Given the description of an element on the screen output the (x, y) to click on. 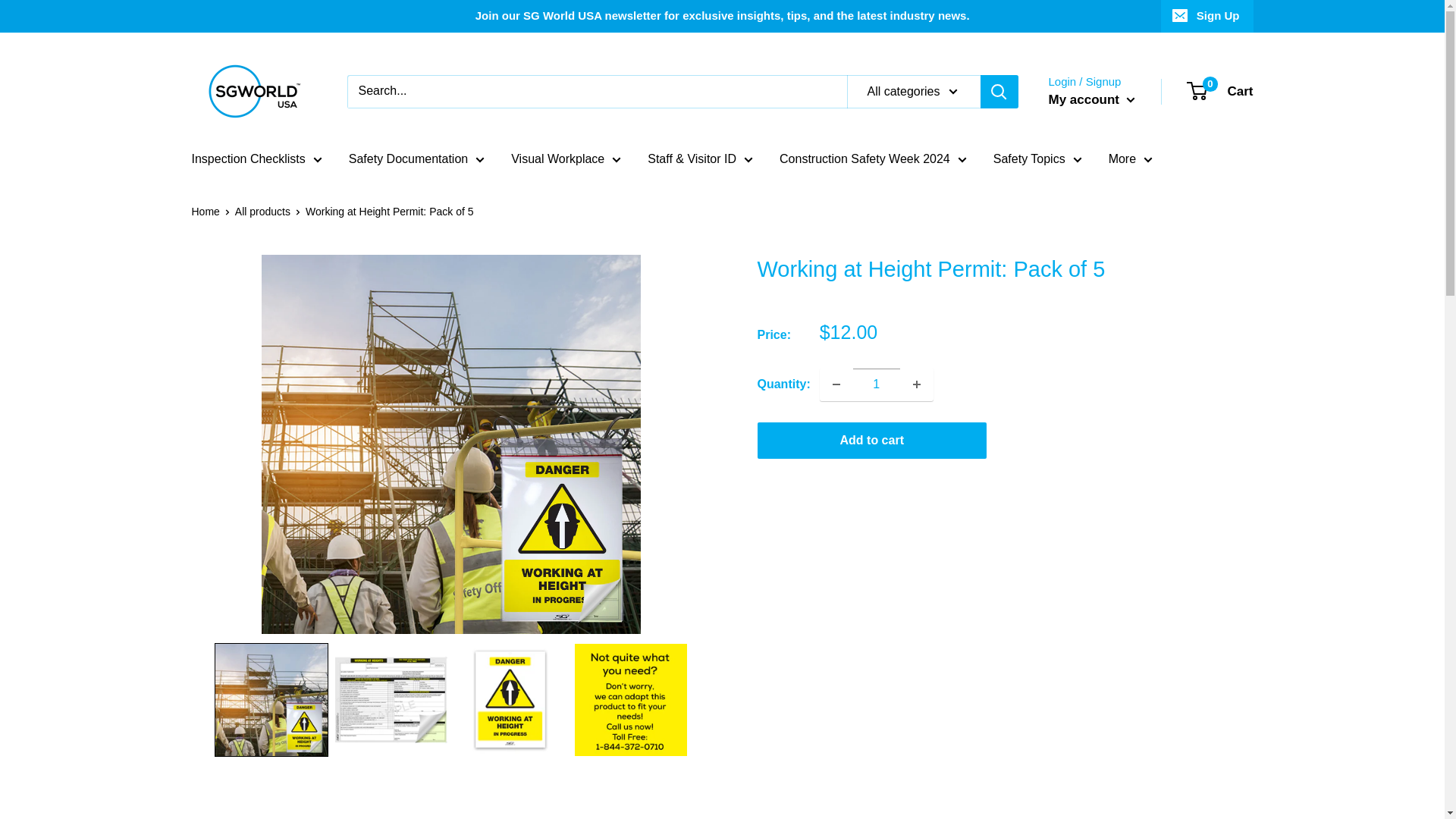
1 (876, 384)
Decrease quantity by 1 (836, 384)
Increase quantity by 1 (917, 384)
Sign Up (1206, 15)
